Given the description of an element on the screen output the (x, y) to click on. 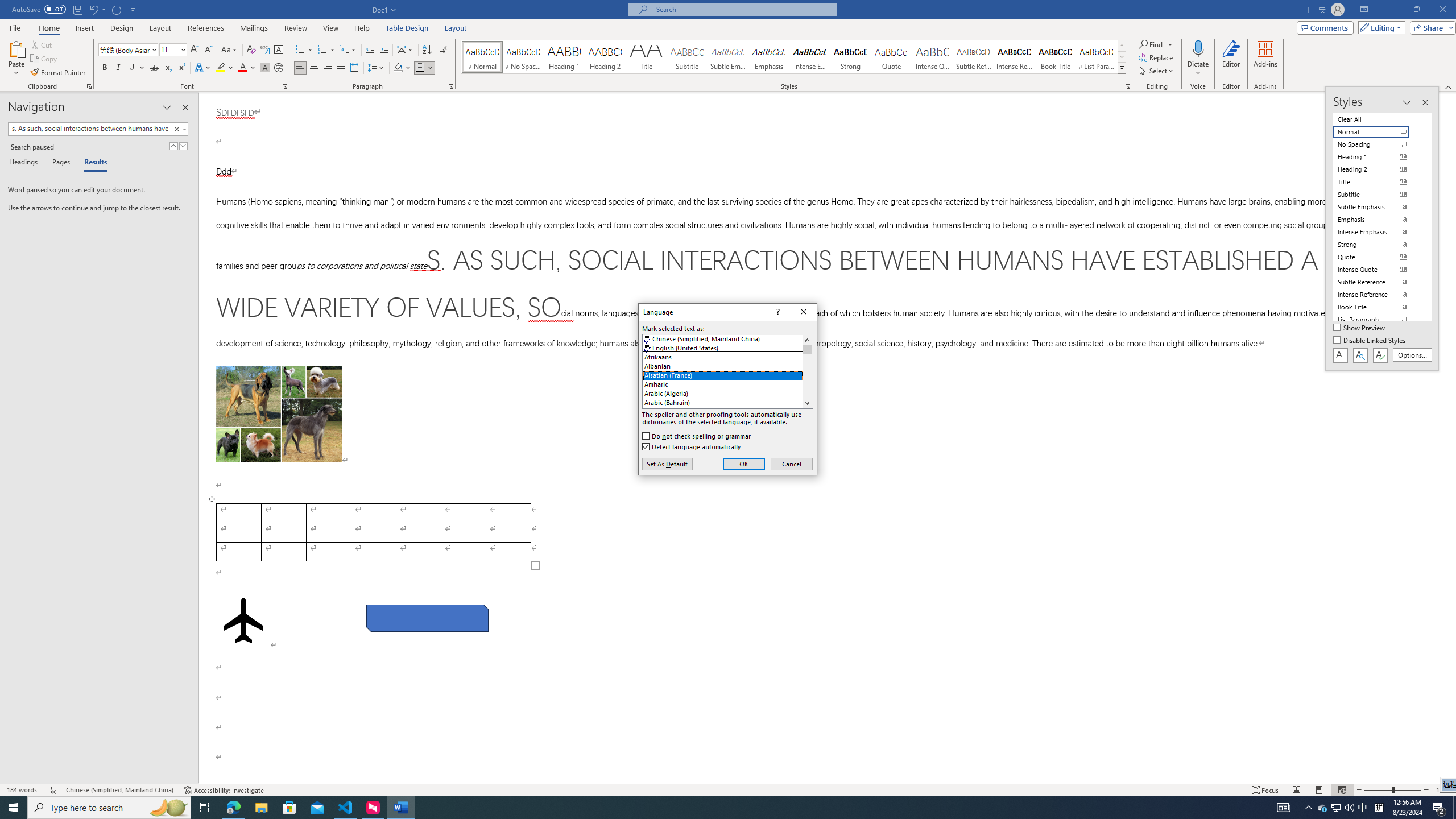
Phonetic Guide... (264, 49)
Text Effects and Typography (202, 67)
Collapse the Ribbon (1448, 86)
Undo Style (92, 9)
Office Clipboard... (88, 85)
Font... (285, 85)
Heading 1 (564, 56)
References (205, 28)
Pages (59, 162)
Dictate (1197, 58)
Next Result (183, 145)
List Paragraph (1377, 319)
Underline (131, 67)
Title (646, 56)
